Given the description of an element on the screen output the (x, y) to click on. 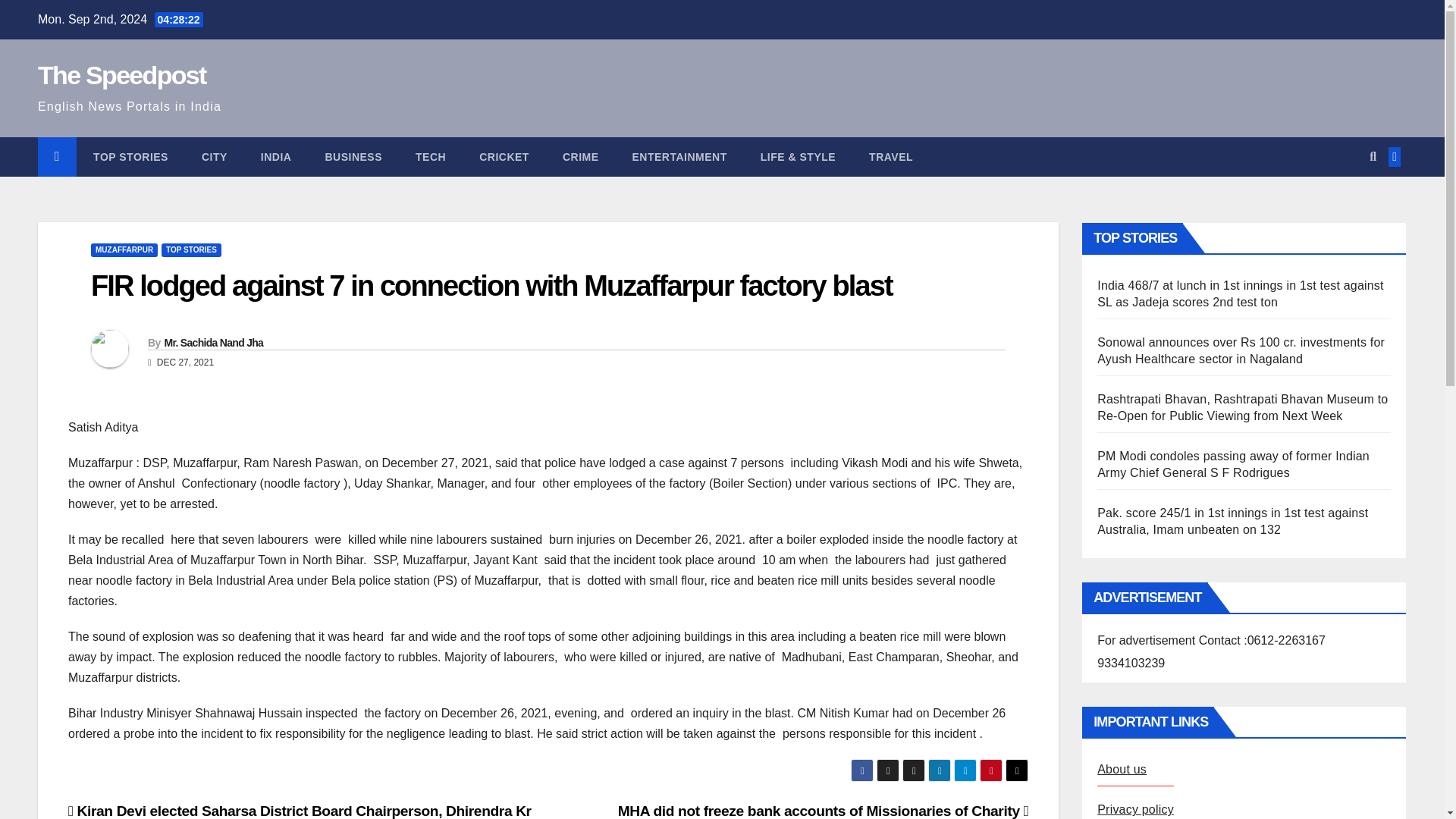
TOP STORIES (130, 156)
The Speedpost (121, 74)
BUSINESS (352, 156)
CRIME (580, 156)
ENTERTAINMENT (679, 156)
CRICKET (504, 156)
Mr. Sachida Nand Jha (213, 342)
India (276, 156)
City (214, 156)
TRAVEL (890, 156)
